Given the description of an element on the screen output the (x, y) to click on. 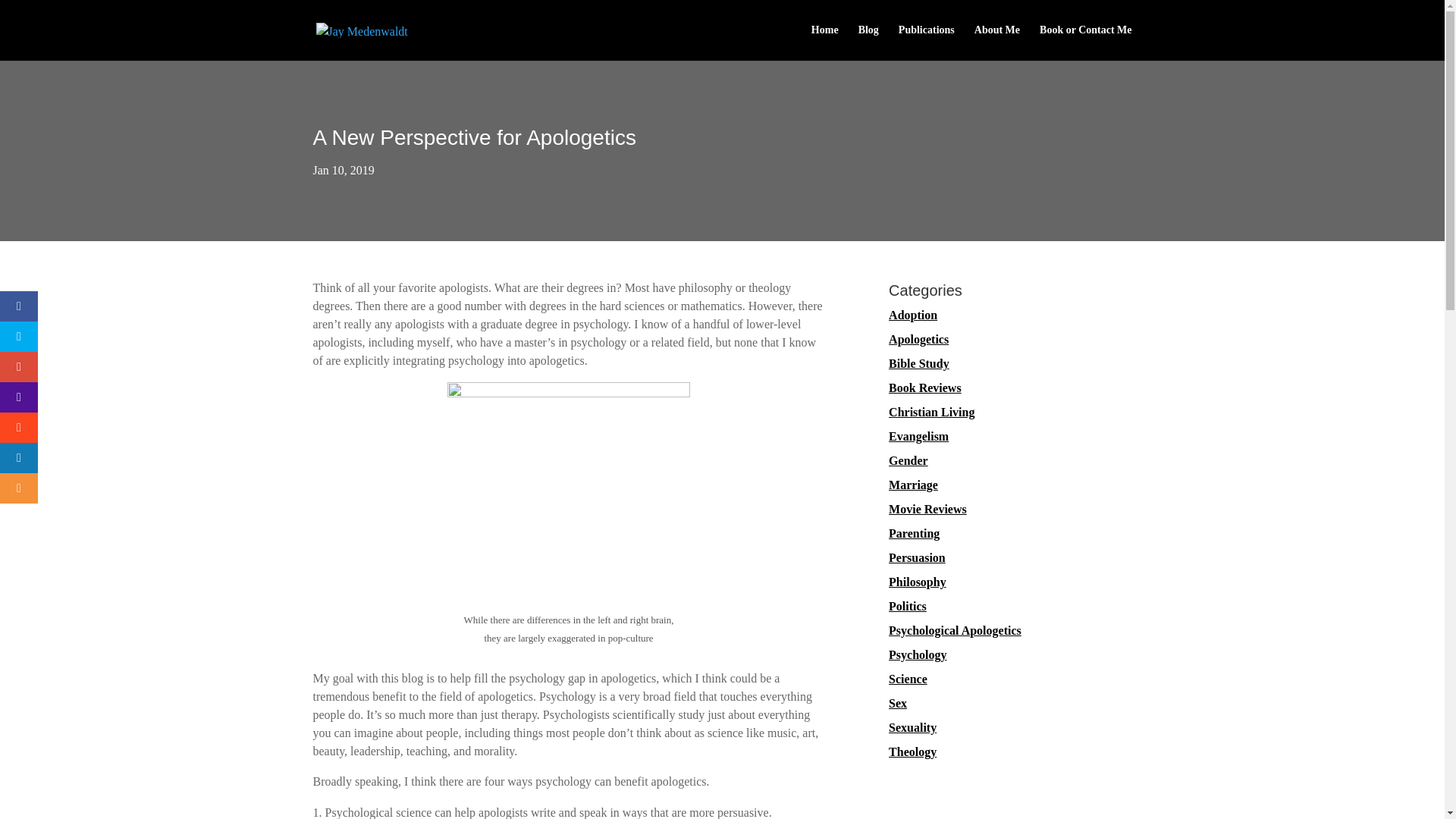
Movie Reviews (927, 508)
Home (824, 42)
Christian Living (931, 411)
Science (907, 678)
Blog (869, 42)
Parenting (913, 533)
Theology (912, 751)
Marriage (912, 484)
Sex (897, 703)
Gender (908, 460)
Philosophy (917, 581)
Book Reviews (924, 387)
Psychological Apologetics (955, 630)
Psychology (917, 654)
Psychology (917, 654)
